Given the description of an element on the screen output the (x, y) to click on. 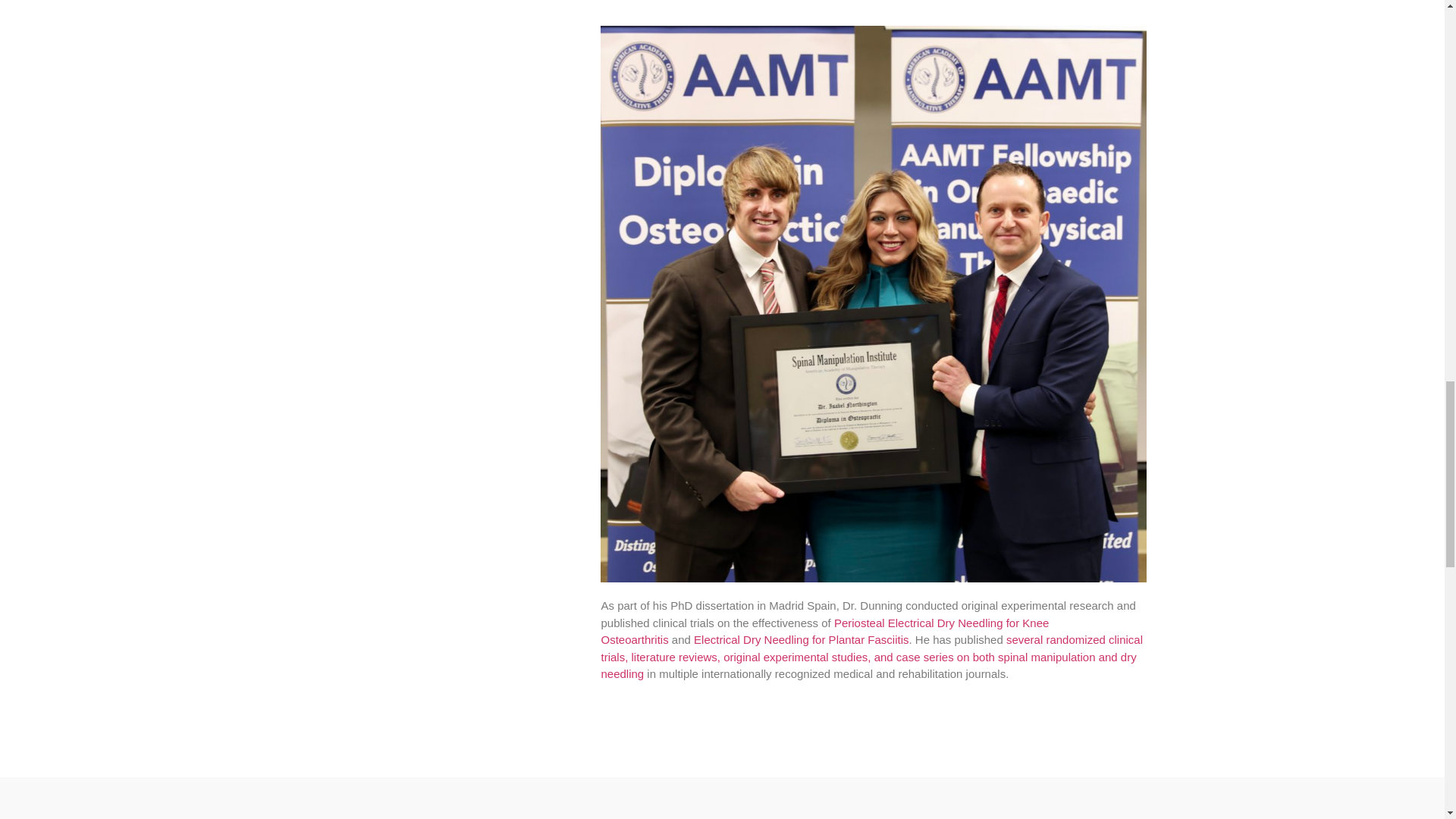
Periosteal Electrical Dry Needling for Knee Osteoarthritis (823, 631)
Electrical Dry Needling for Plantar Fasciitis (801, 639)
